Given the description of an element on the screen output the (x, y) to click on. 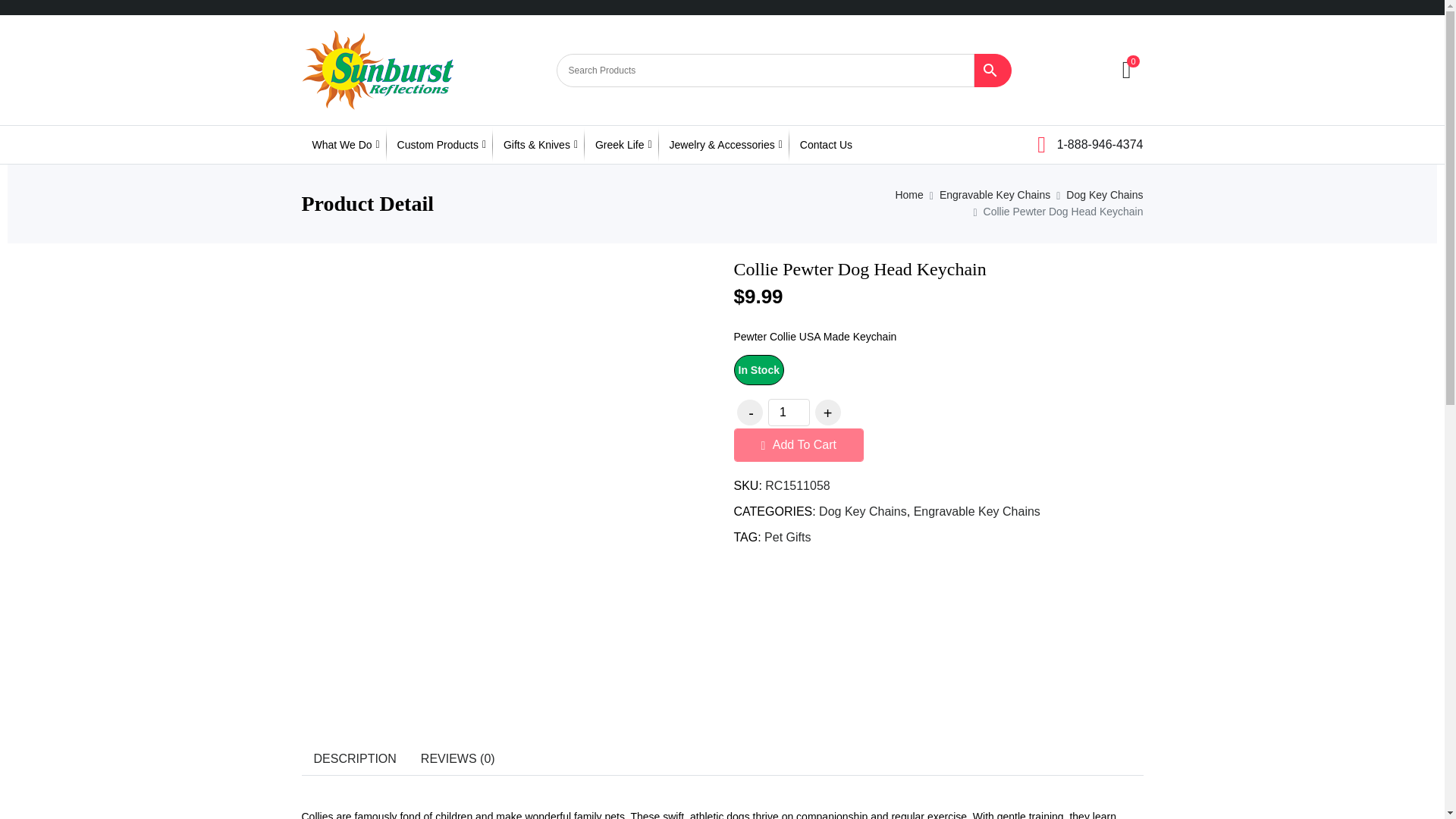
Qty (788, 411)
1 (788, 411)
1-888-946-4374 (1089, 143)
- (749, 412)
Sunburst Reflections (376, 69)
